Given the description of an element on the screen output the (x, y) to click on. 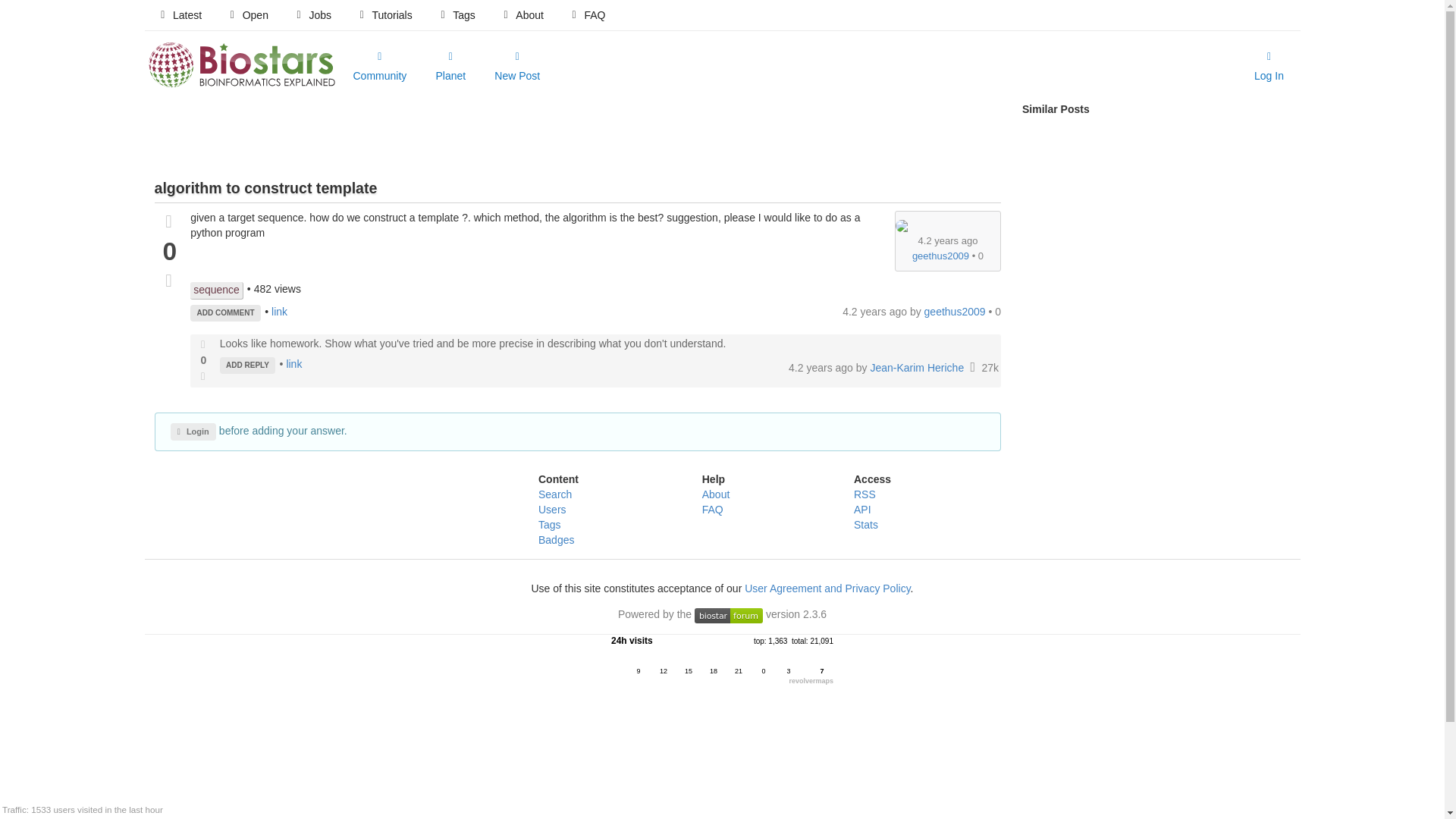
link (278, 311)
Jobs (312, 15)
Open (247, 15)
geethus2009 (940, 255)
New Post (516, 66)
3rd party ad content (577, 136)
FAQ (586, 15)
About (521, 15)
link (293, 363)
ADD REPLY (247, 365)
Planet (450, 66)
geethus2009 (956, 311)
Tags (456, 15)
Community (379, 66)
Log In (1269, 66)
